Given the description of an element on the screen output the (x, y) to click on. 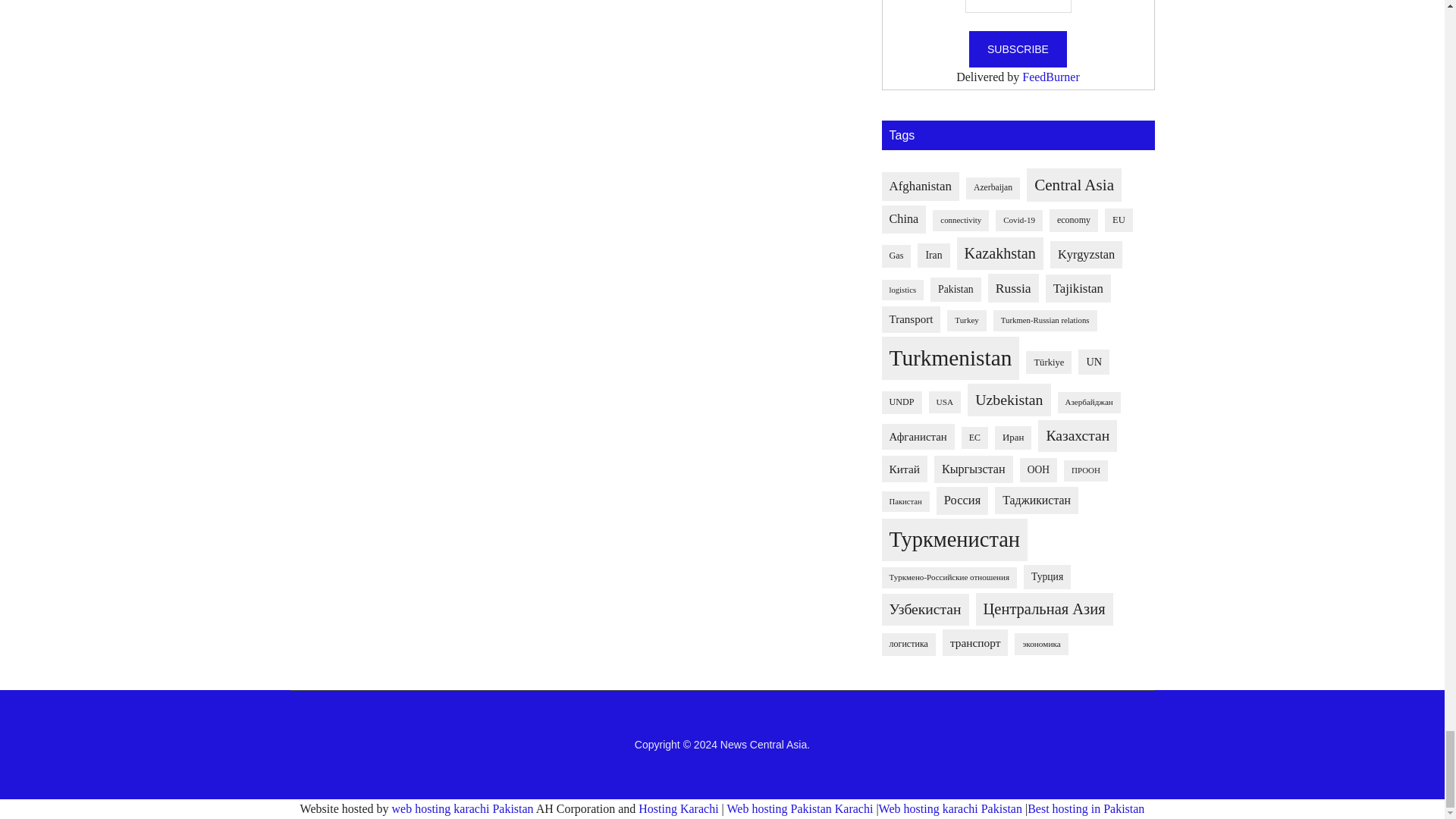
Subscribe (1018, 49)
